Given the description of an element on the screen output the (x, y) to click on. 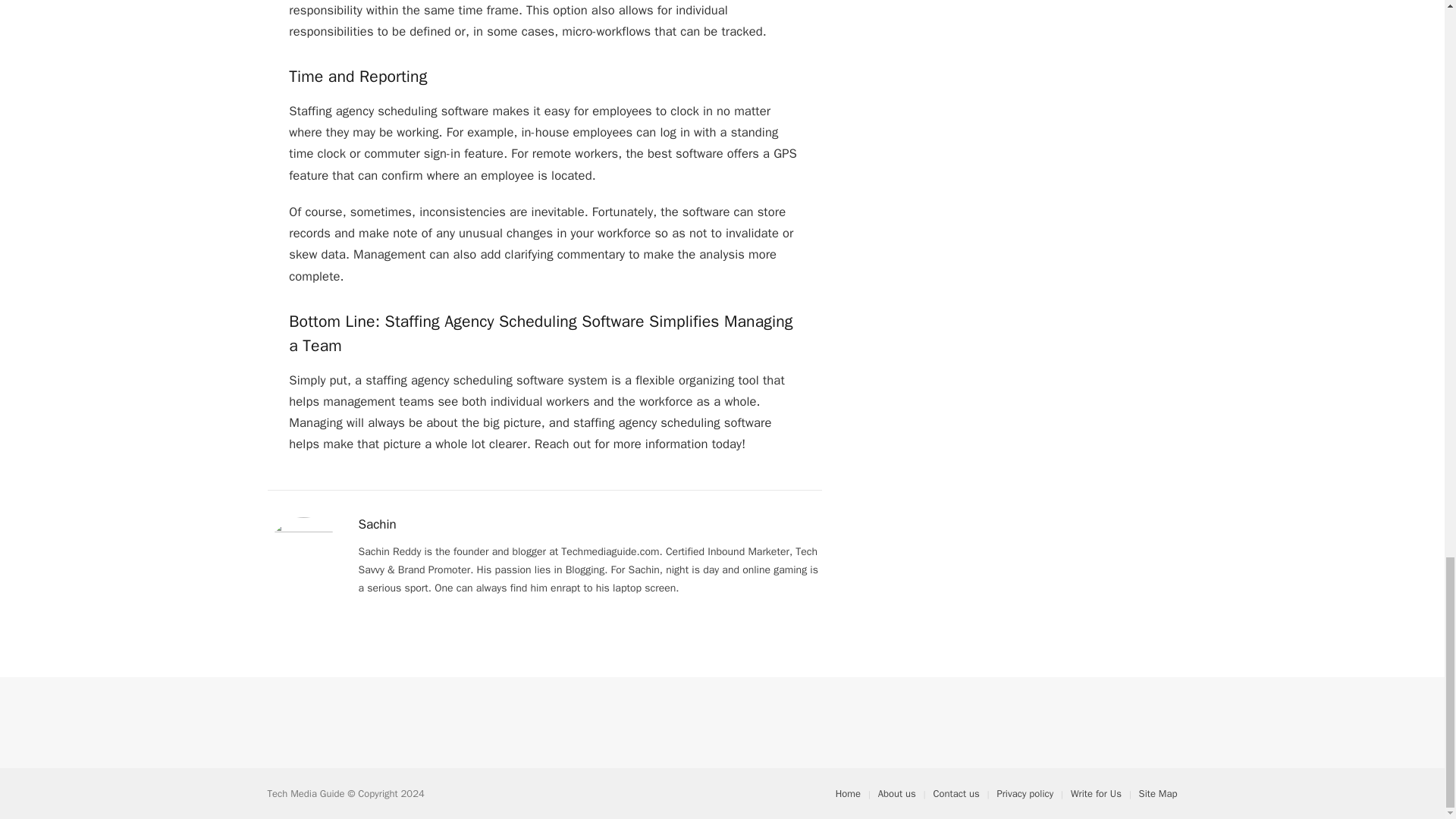
Posts by Sachin (377, 524)
